Given the description of an element on the screen output the (x, y) to click on. 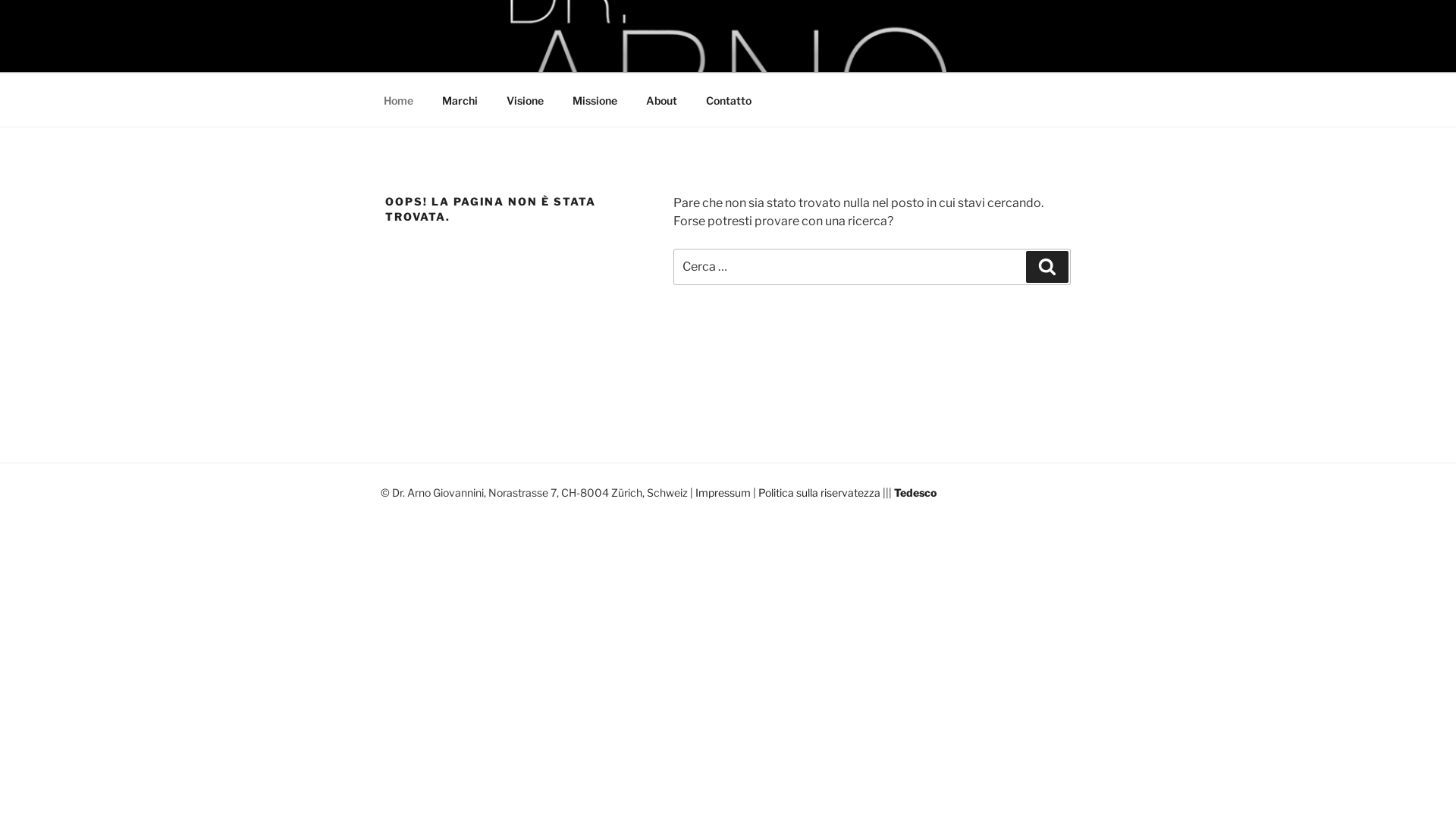
Cerca Element type: text (1047, 266)
Visione Element type: text (524, 100)
Salta al contenuto Element type: text (0, 0)
ARNO GIOVANNINI Element type: text (529, 52)
Home Element type: text (398, 100)
Impressum Element type: text (722, 492)
Contatto Element type: text (728, 100)
Tedesco Element type: text (915, 492)
About Element type: text (661, 100)
Marchi Element type: text (459, 100)
Missione Element type: text (594, 100)
Politica sulla riservatezza Element type: text (819, 492)
